Given the description of an element on the screen output the (x, y) to click on. 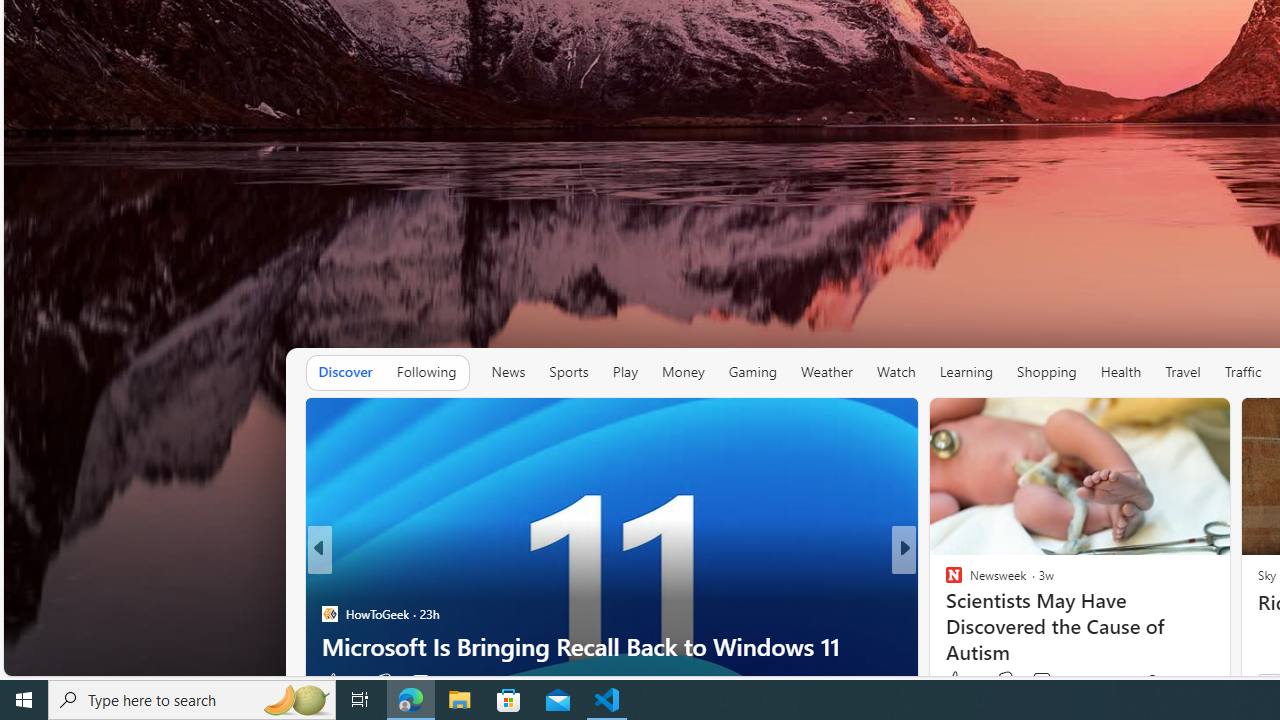
Kinda Frugal (944, 581)
39 Like (956, 681)
Morning Carpool (944, 581)
40 Like (956, 681)
MovieMaker (944, 581)
View comments 10 Comment (1042, 681)
Newsweek (944, 581)
